Given the description of an element on the screen output the (x, y) to click on. 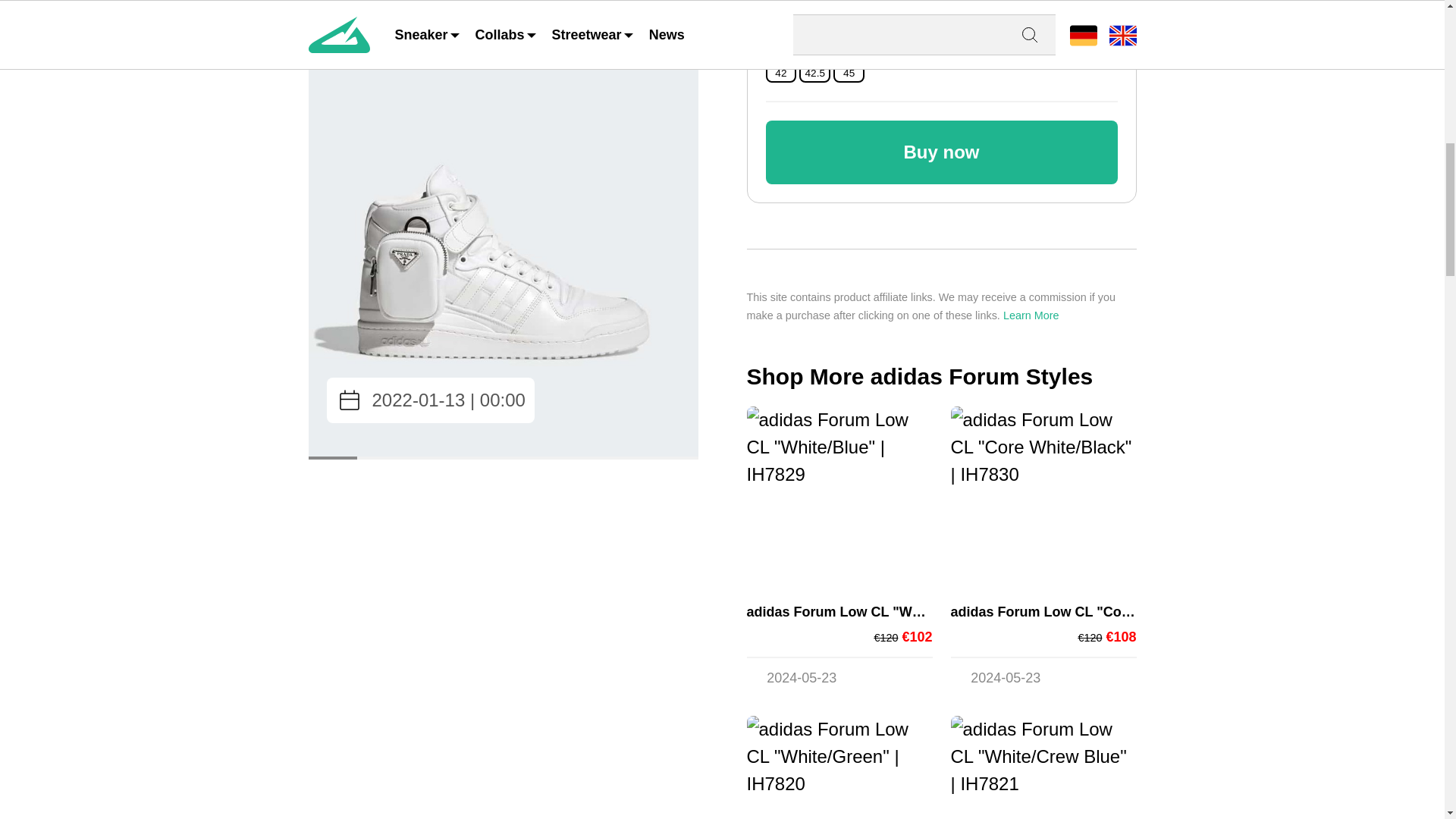
42 (780, 72)
42.5 (815, 72)
Learn More (1031, 315)
Buy now (941, 152)
45 (848, 72)
